Given the description of an element on the screen output the (x, y) to click on. 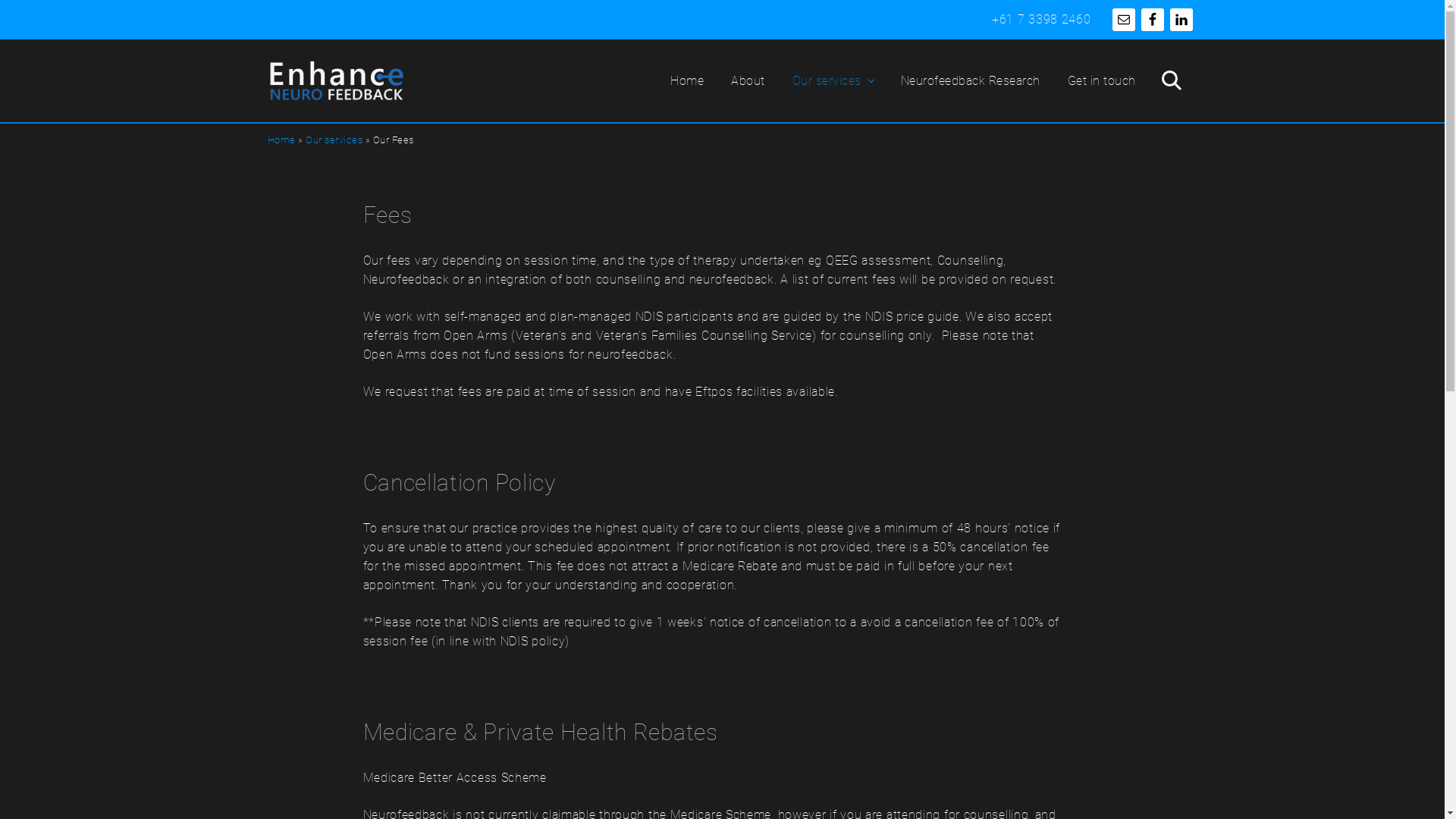
Home Element type: text (280, 139)
Home Element type: text (686, 80)
Neurofeedback Research Element type: text (970, 80)
Skip to right header navigation Element type: text (0, 0)
Search Element type: text (1169, 80)
Facebook Element type: text (1151, 19)
Get in touch Element type: text (1101, 80)
LinkedIn Element type: text (1180, 19)
Our services Element type: text (333, 139)
Email Element type: text (1122, 19)
About Element type: text (747, 80)
Our services Element type: text (831, 80)
+61 7 3398 2460 Element type: text (1041, 19)
